Given the description of an element on the screen output the (x, y) to click on. 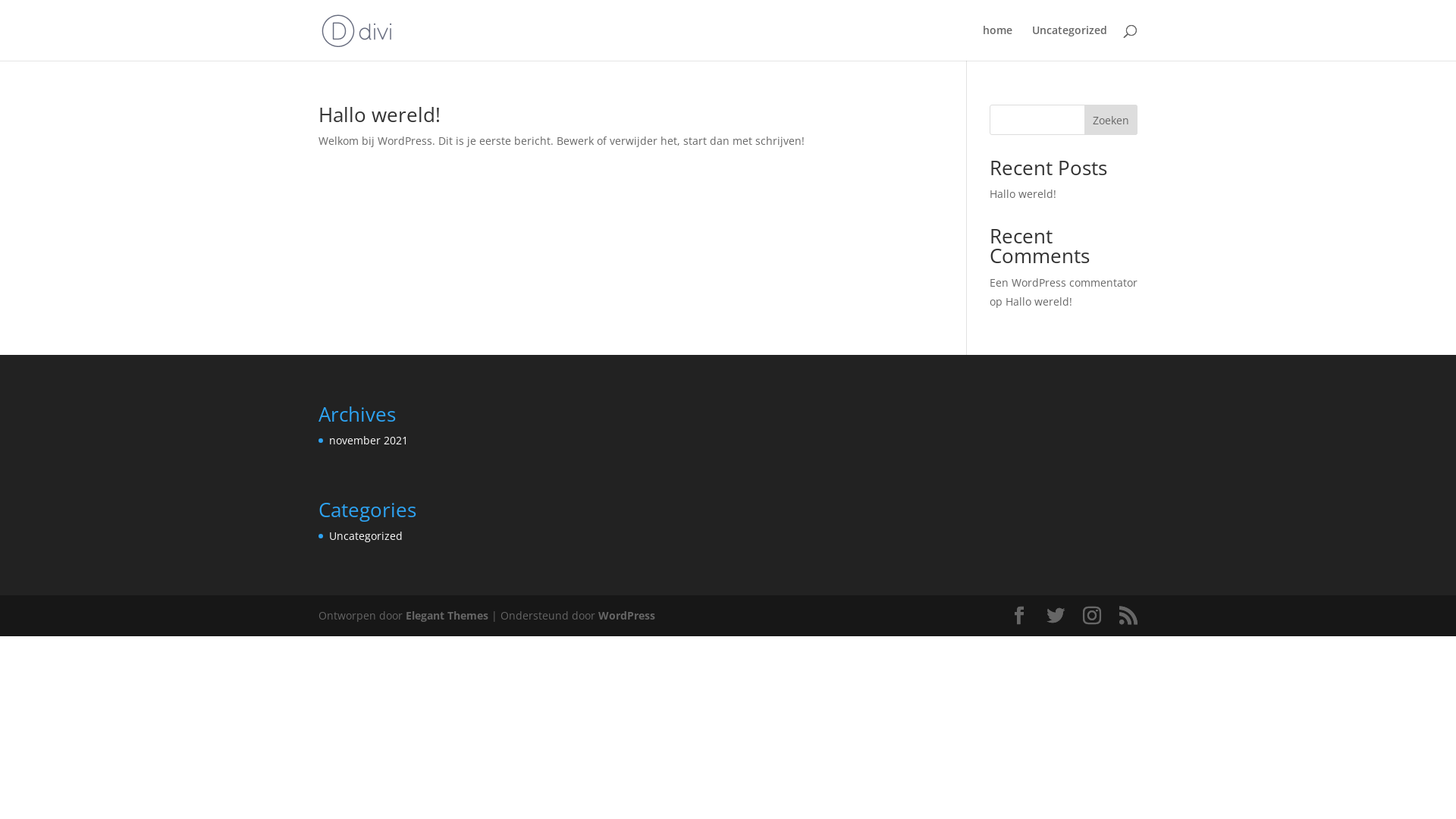
Uncategorized Element type: text (365, 535)
home Element type: text (997, 42)
Zoeken Element type: text (1110, 119)
Uncategorized Element type: text (1069, 42)
WordPress Element type: text (626, 615)
Elegant Themes Element type: text (446, 615)
Hallo wereld! Element type: text (379, 114)
Hallo wereld! Element type: text (1038, 301)
Hallo wereld! Element type: text (1022, 193)
november 2021 Element type: text (368, 440)
Een WordPress commentator Element type: text (1063, 282)
